Given the description of an element on the screen output the (x, y) to click on. 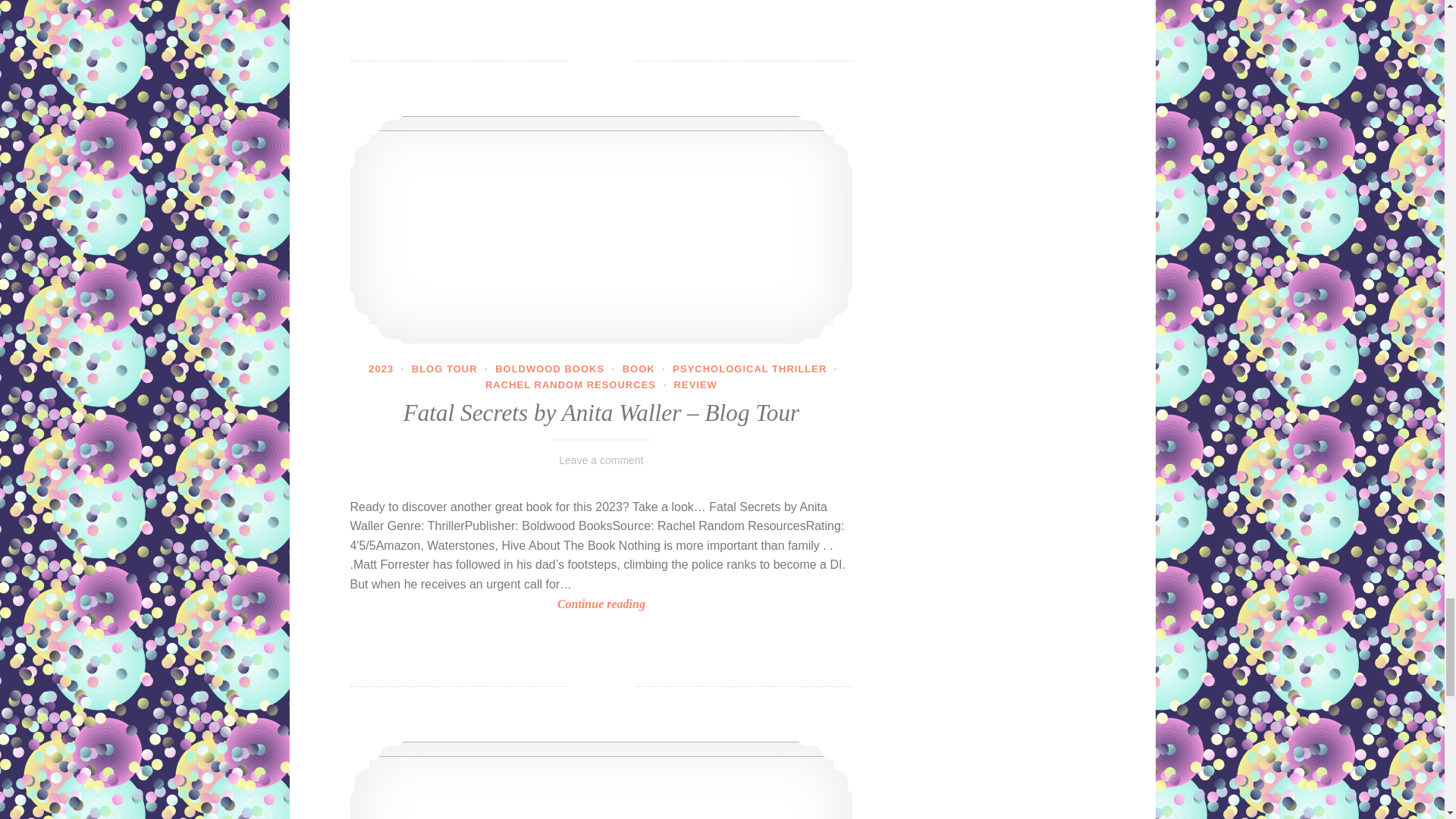
Kelly Lianne Art (601, 780)
